Given the description of an element on the screen output the (x, y) to click on. 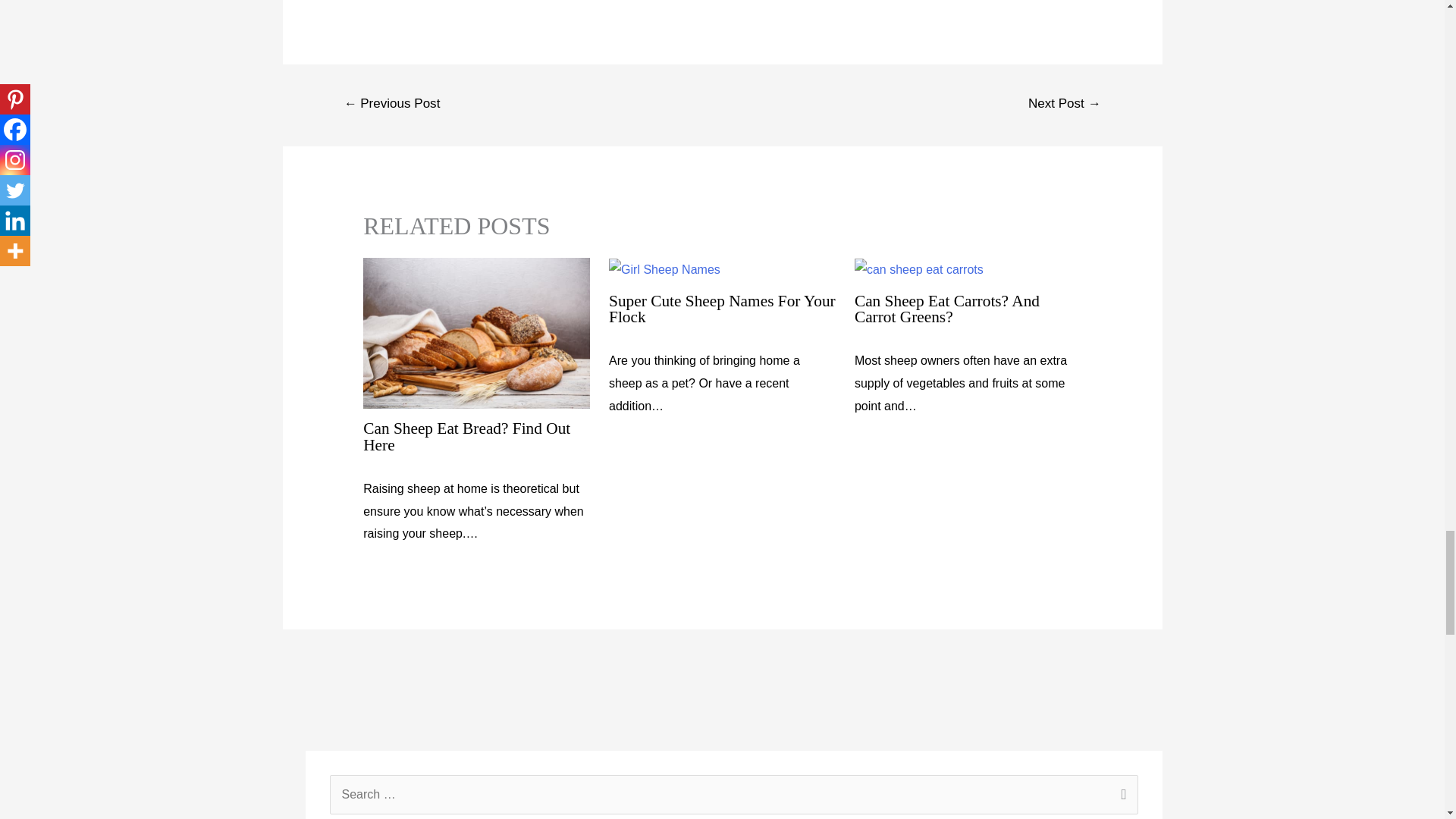
Search (1120, 795)
Search (1120, 795)
